Given the description of an element on the screen output the (x, y) to click on. 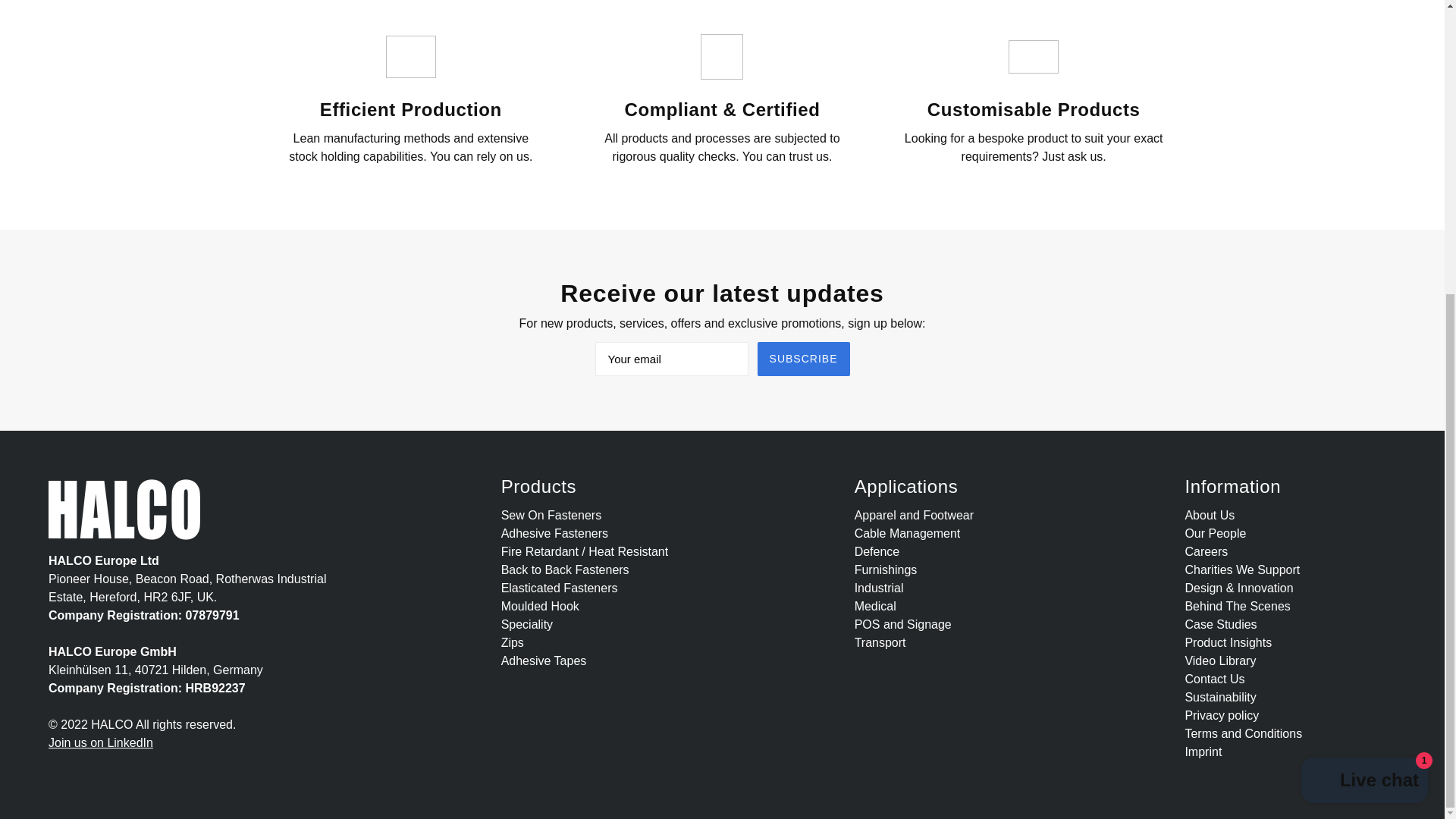
Speciality (526, 624)
Elasticated Fasteners (558, 587)
Transport (879, 642)
Defence (876, 551)
Apparel and Footwear (914, 514)
Cable Management (907, 533)
Furnishings (885, 569)
POS and Signage (903, 624)
Medical (875, 605)
Industrial (879, 587)
Zips (512, 642)
Back to Back Fasteners (564, 569)
Moulded Hook (539, 605)
Adhesive Tapes (543, 660)
Adhesive Fasteners (554, 533)
